Given the description of an element on the screen output the (x, y) to click on. 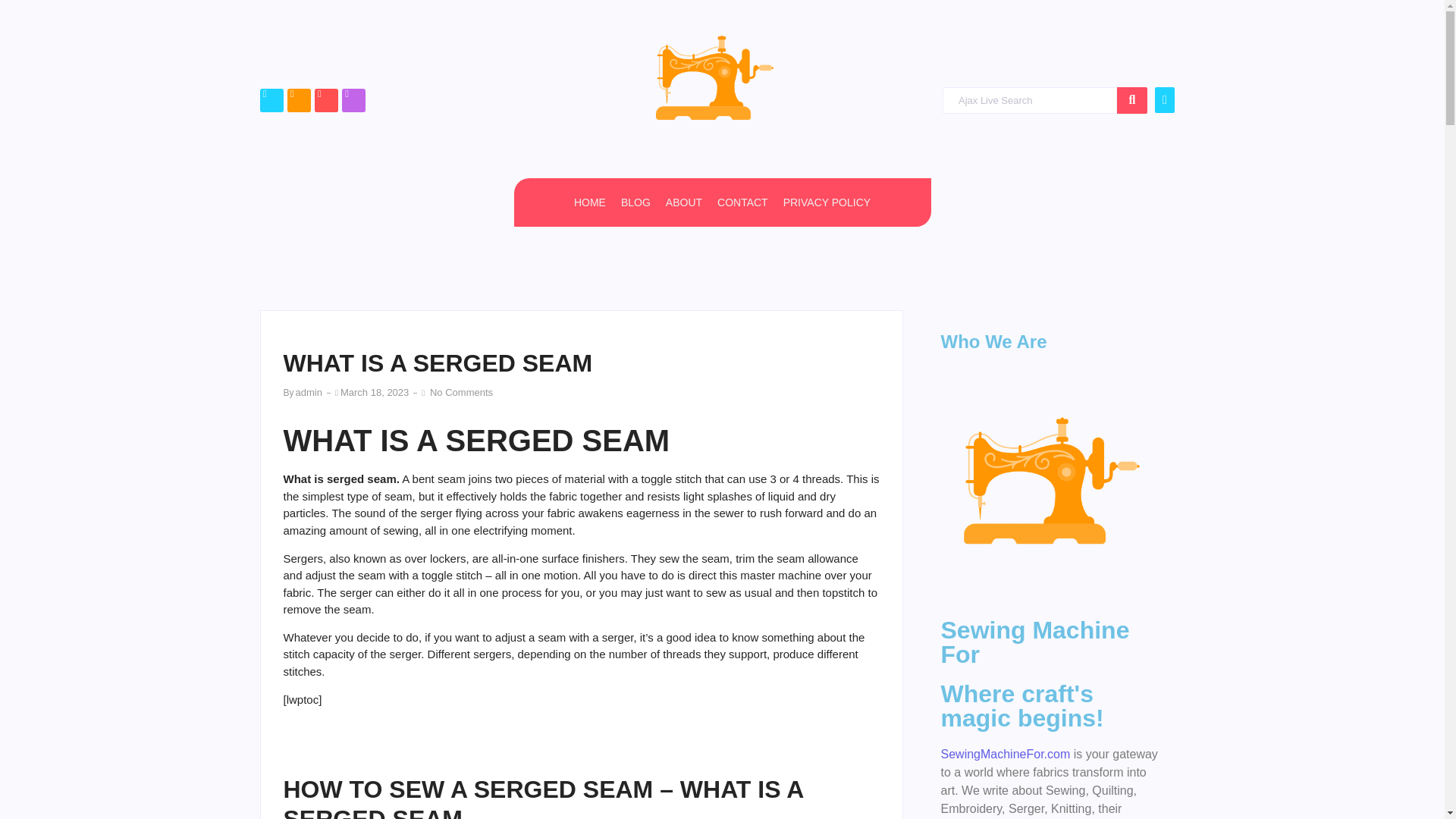
No Comments (459, 392)
ABOUT (683, 202)
HOME (589, 202)
Search (1029, 99)
PRIVACY POLICY (826, 202)
CONTACT (742, 202)
Admin (308, 392)
